Given the description of an element on the screen output the (x, y) to click on. 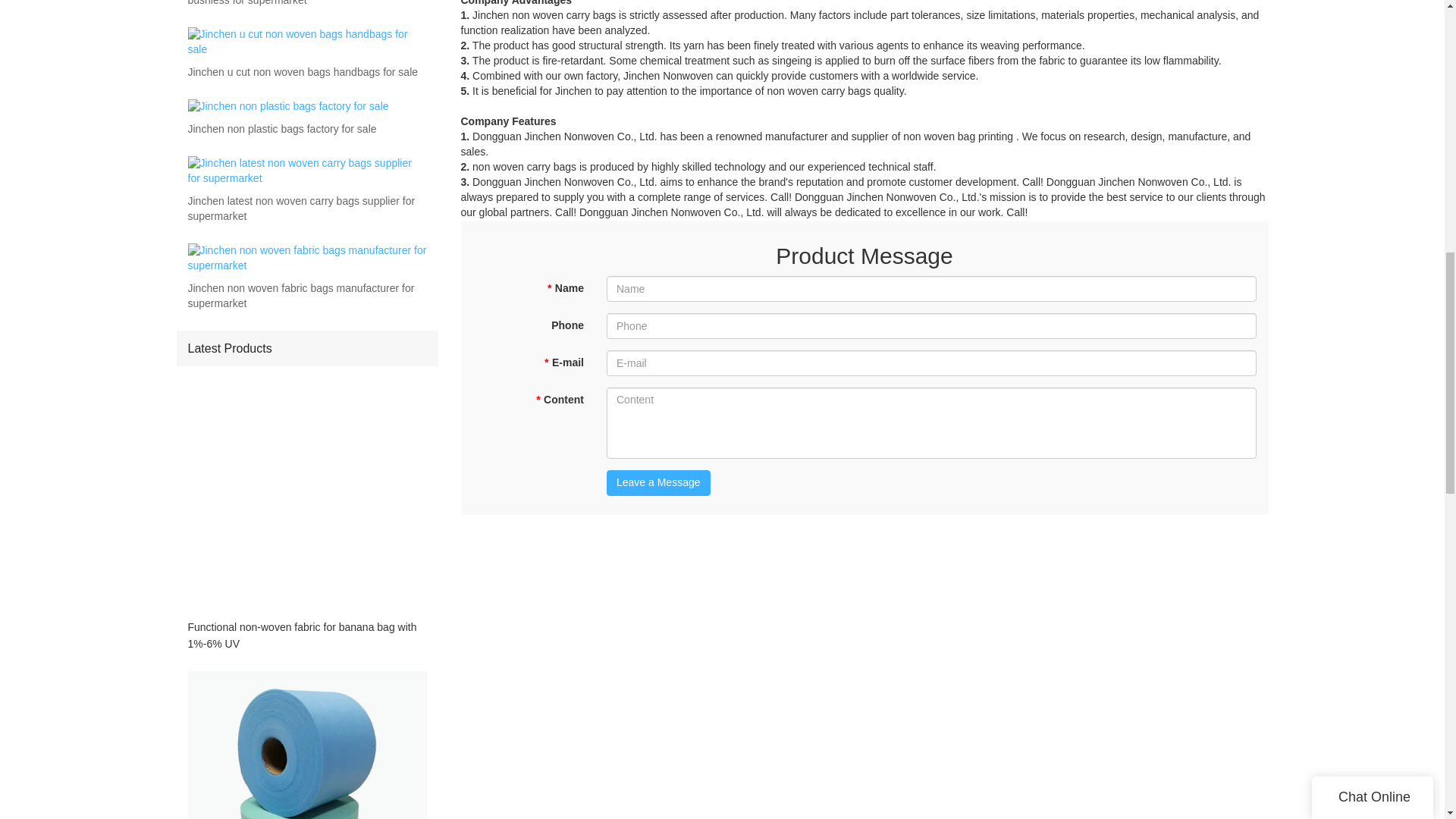
Jinchen non plastic bags factory for sale (282, 129)
Jinchen non woven fabric bags manufacturer for supermarket (306, 296)
Jinchen u cut non woven bags handbags for sale (303, 72)
Jinchen latest non woven carry bags supplier for supermarket (306, 209)
Jinchen u cut non woven bags handbags for sale (303, 72)
Jinchen non plastic bags factory for sale (282, 129)
